Given the description of an element on the screen output the (x, y) to click on. 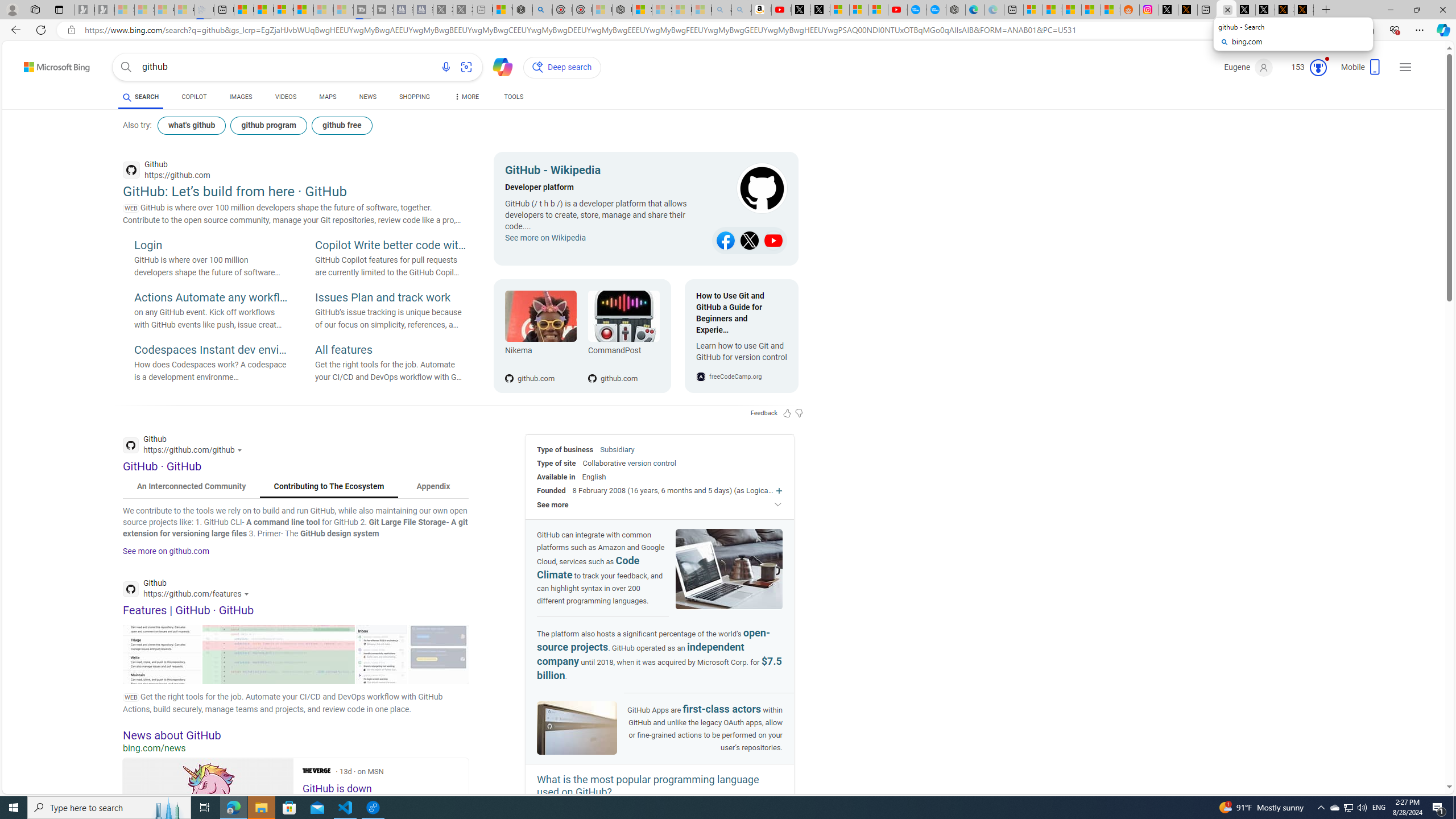
Global web icon (130, 588)
Actions Automate any workflow (210, 298)
github - Search (1225, 9)
NEWS (367, 96)
Shanghai, China Weather trends | Microsoft Weather (1110, 9)
Log in to X / X (1168, 9)
NEWS (367, 98)
Global Web Icon (700, 376)
